Given the description of an element on the screen output the (x, y) to click on. 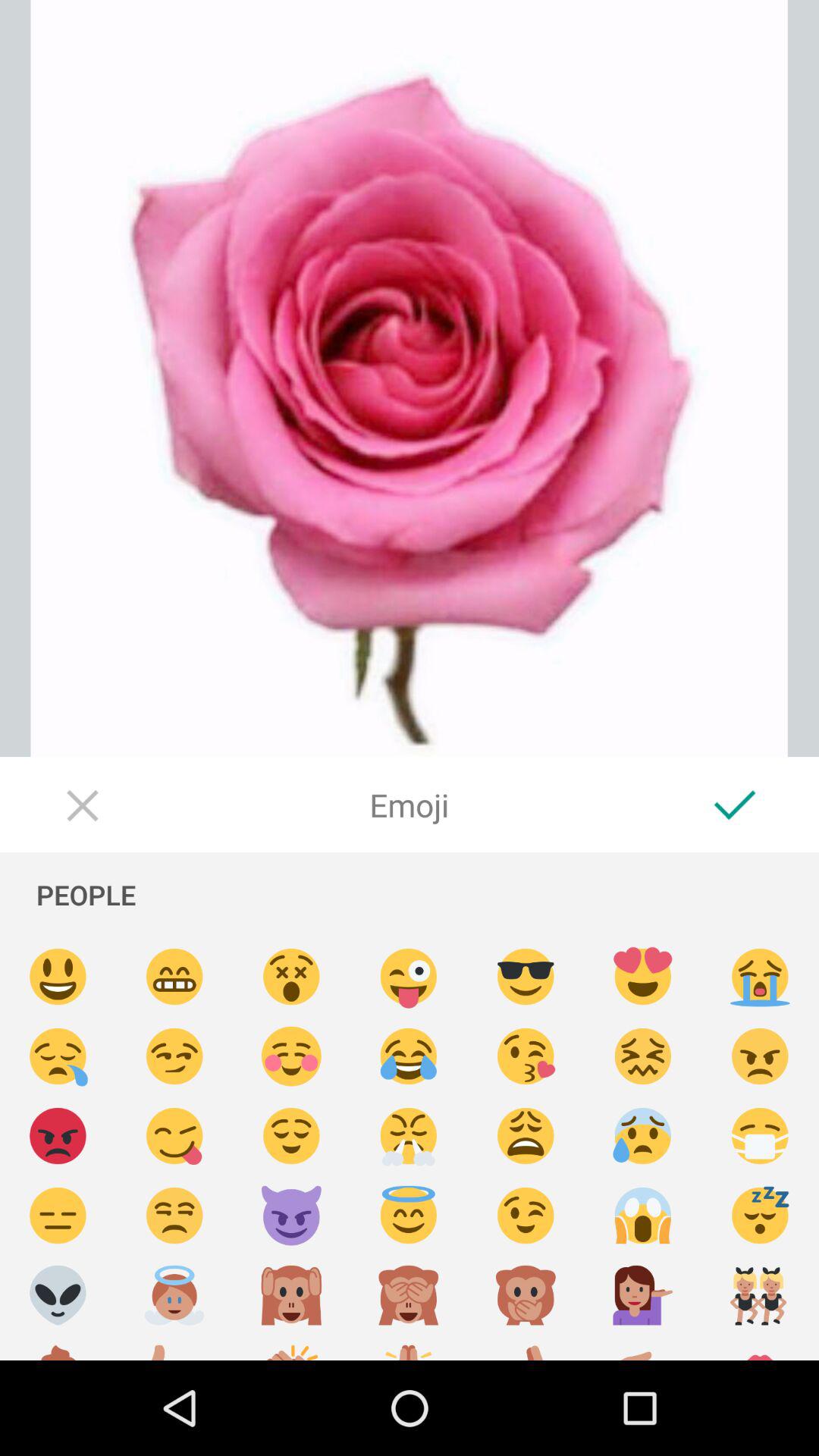
select emoji type (408, 1347)
